Given the description of an element on the screen output the (x, y) to click on. 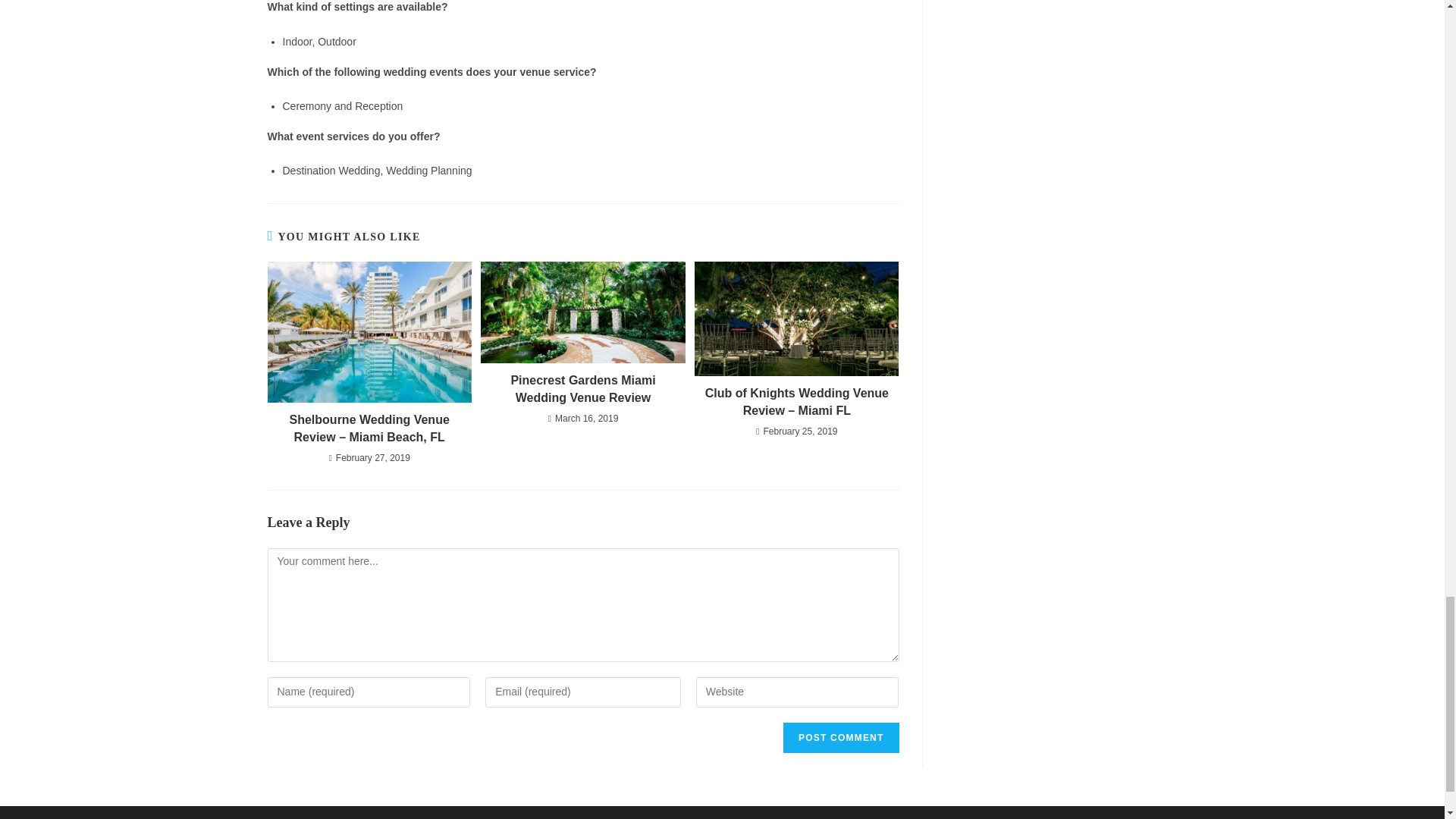
Post Comment (840, 737)
Post Comment (840, 737)
Pinecrest Gardens Miami Wedding Venue Review (582, 389)
